Given the description of an element on the screen output the (x, y) to click on. 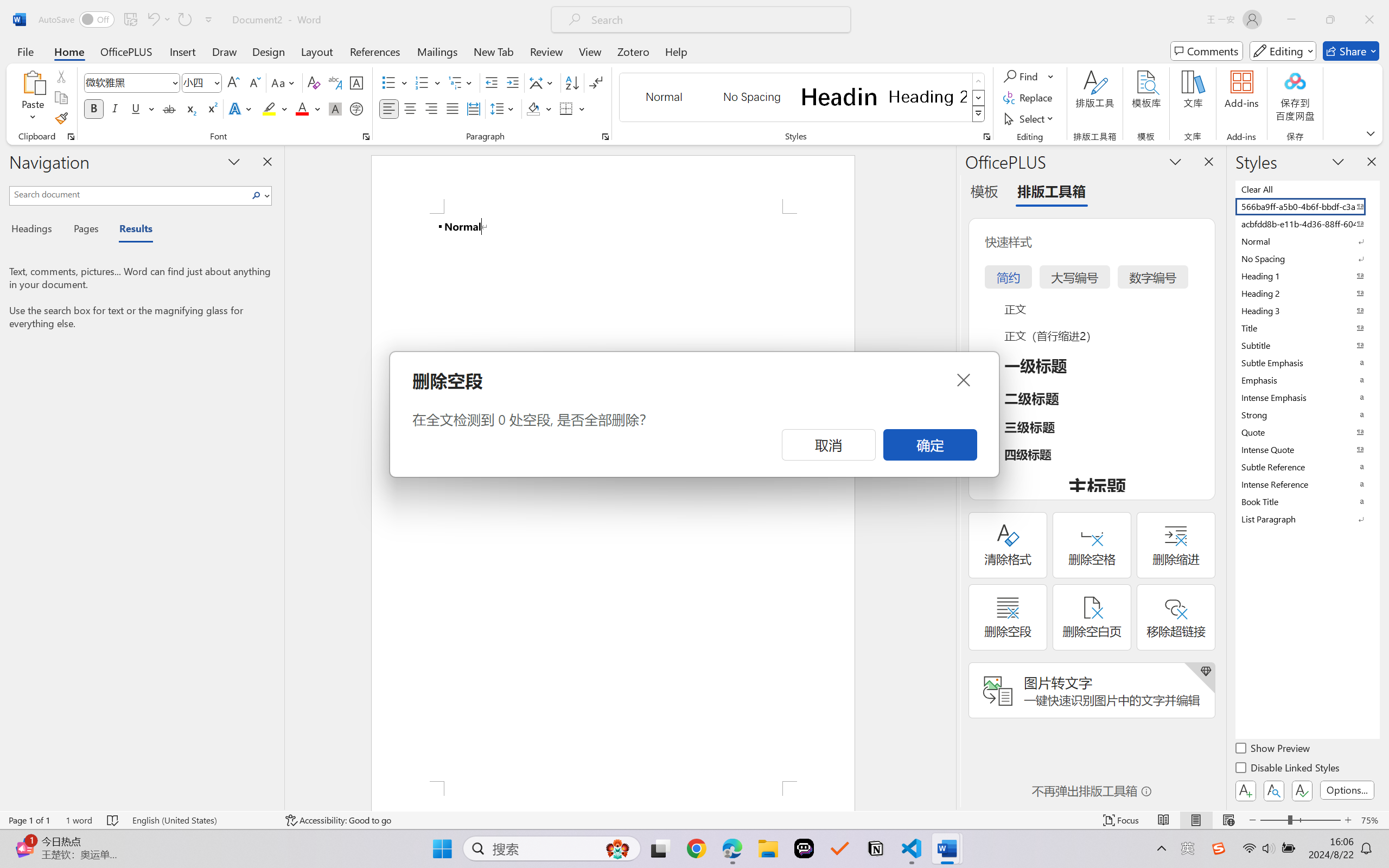
Heading 1 (839, 96)
Class: NetUIButton (1301, 790)
Paste (33, 97)
Shading RGB(0, 0, 0) (533, 108)
Poe (804, 848)
Text Highlight Color Yellow (269, 108)
Open (215, 82)
Mailings (437, 51)
Subscript (190, 108)
